Given the description of an element on the screen output the (x, y) to click on. 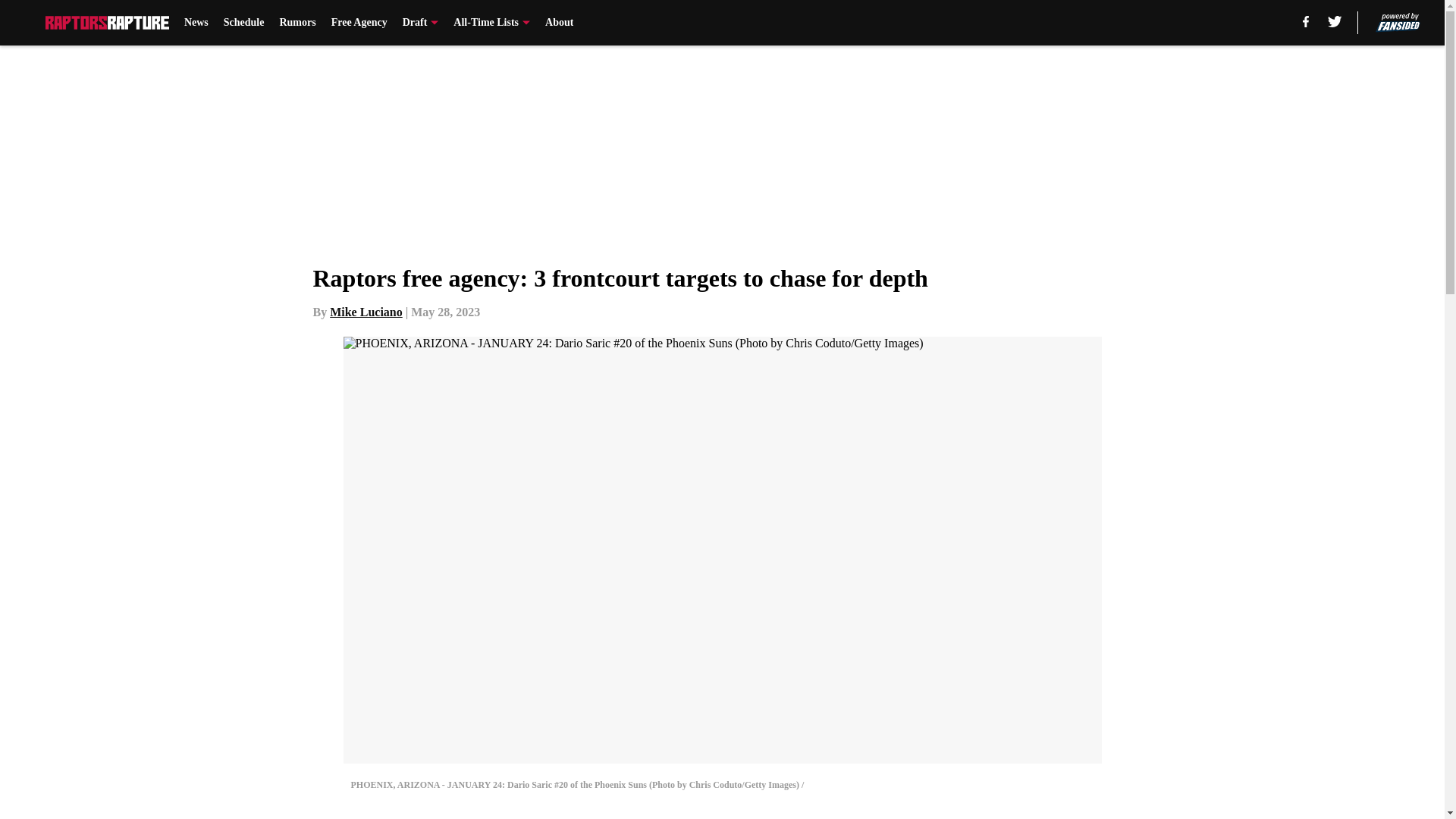
News (196, 22)
Free Agency (359, 22)
Mike Luciano (366, 311)
Draft (421, 22)
All-Time Lists (490, 22)
Schedule (244, 22)
About (558, 22)
Rumors (297, 22)
